Given the description of an element on the screen output the (x, y) to click on. 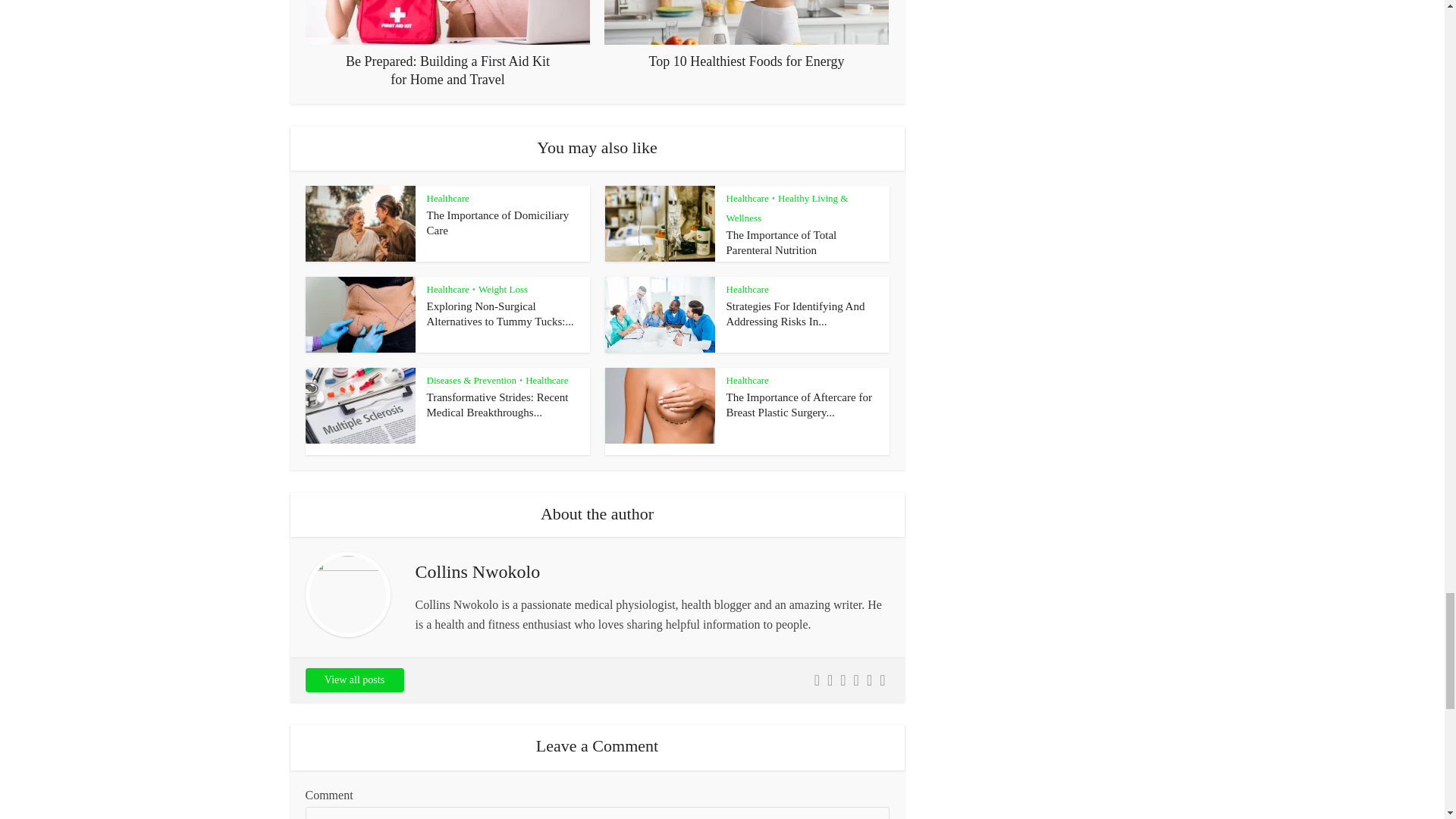
The Importance of Total Parenteral Nutrition (781, 242)
Strategies For Identifying And Addressing Risks In Nursing (795, 313)
The Importance of Domiciliary Care (497, 222)
